Given the description of an element on the screen output the (x, y) to click on. 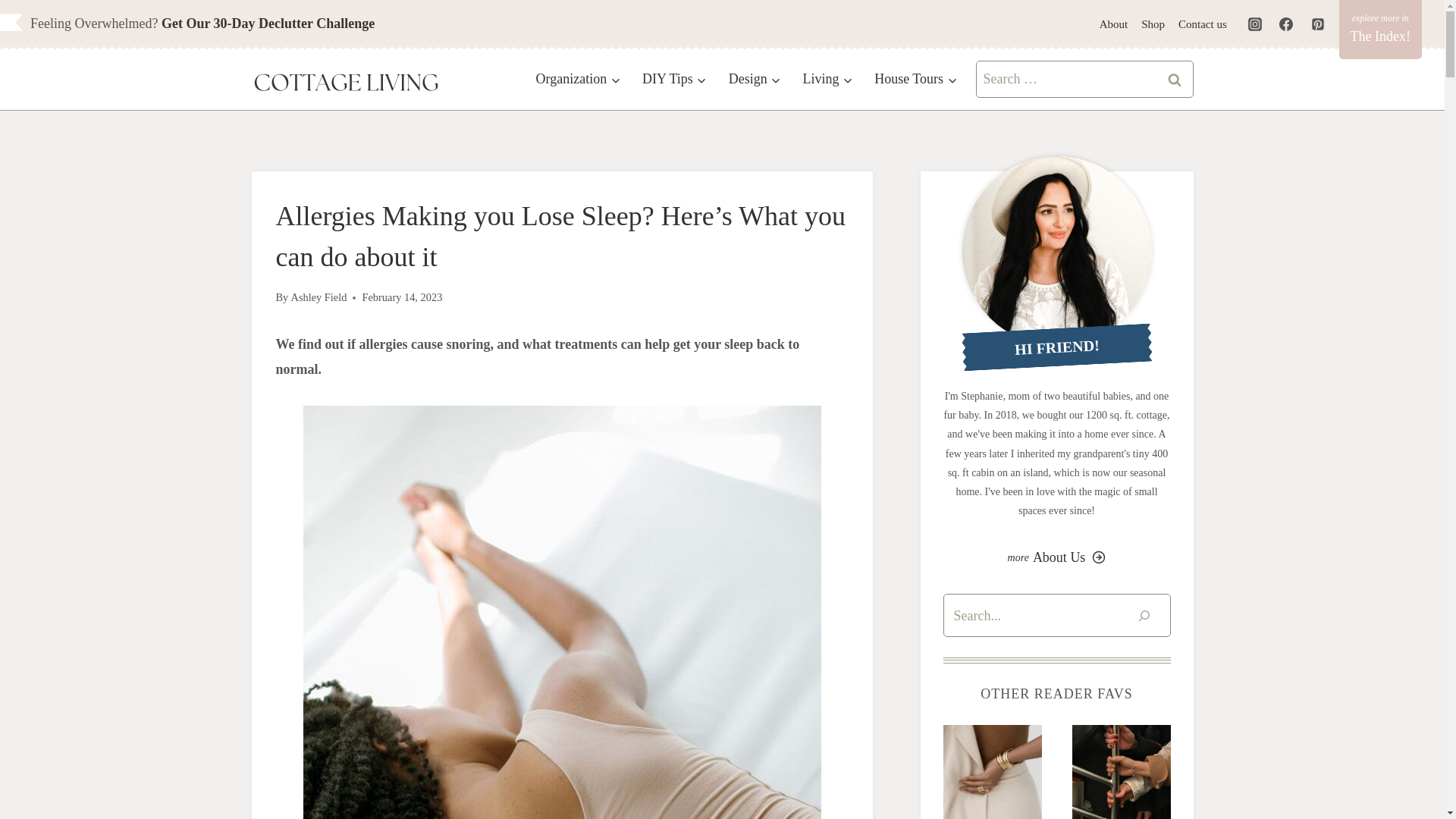
Contact us (1202, 24)
Get Our 30-Day Declutter Challenge (267, 23)
The Index! (1380, 29)
About (1114, 24)
DIY Tips (674, 78)
Design (754, 78)
Search (1174, 78)
Shop (1153, 24)
Living (827, 78)
House Tours (915, 78)
Search (1174, 78)
Search (1174, 78)
Organization (577, 78)
